Given the description of an element on the screen output the (x, y) to click on. 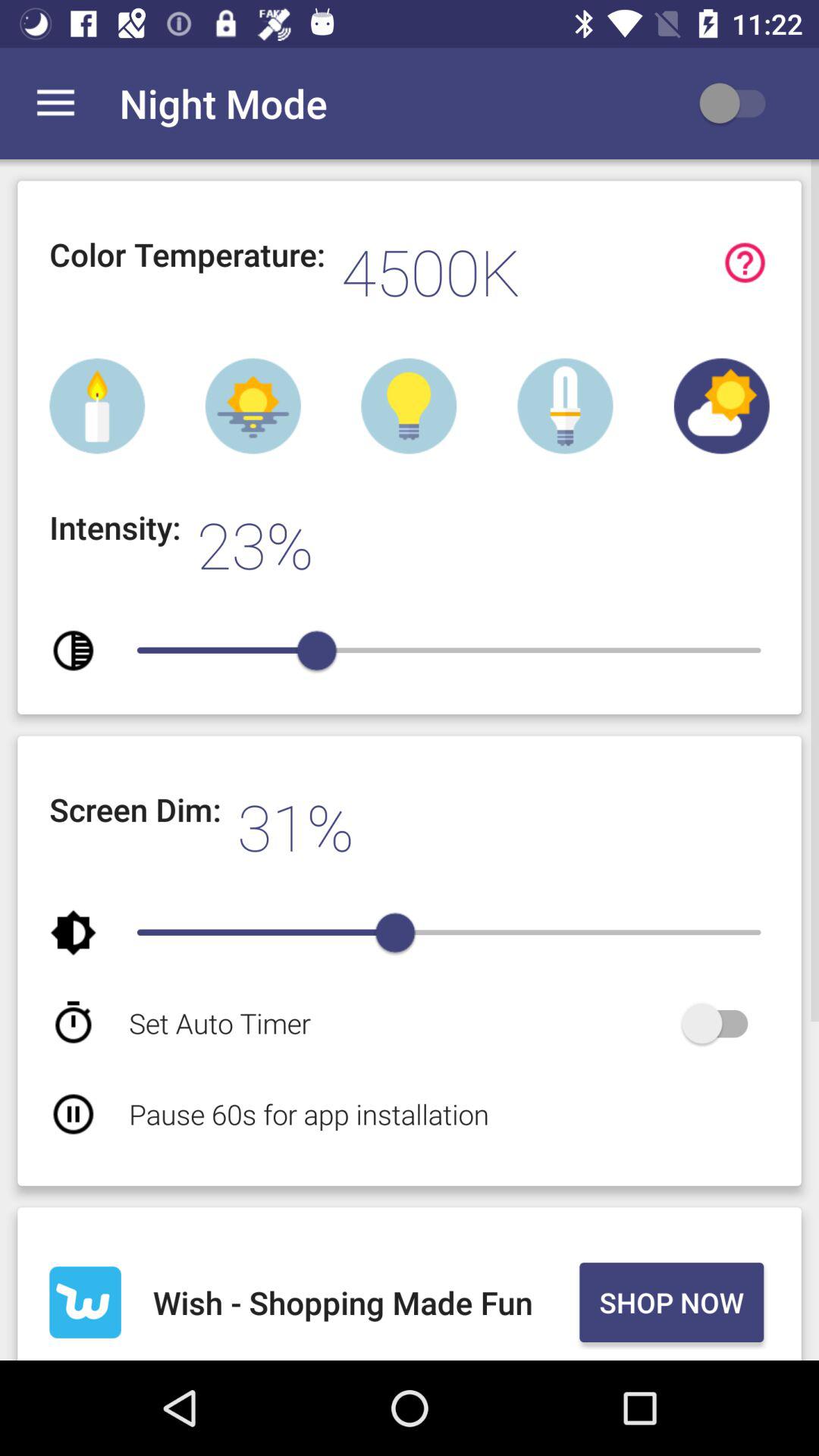
select icon to the right of wish shopping made icon (671, 1302)
